Given the description of an element on the screen output the (x, y) to click on. 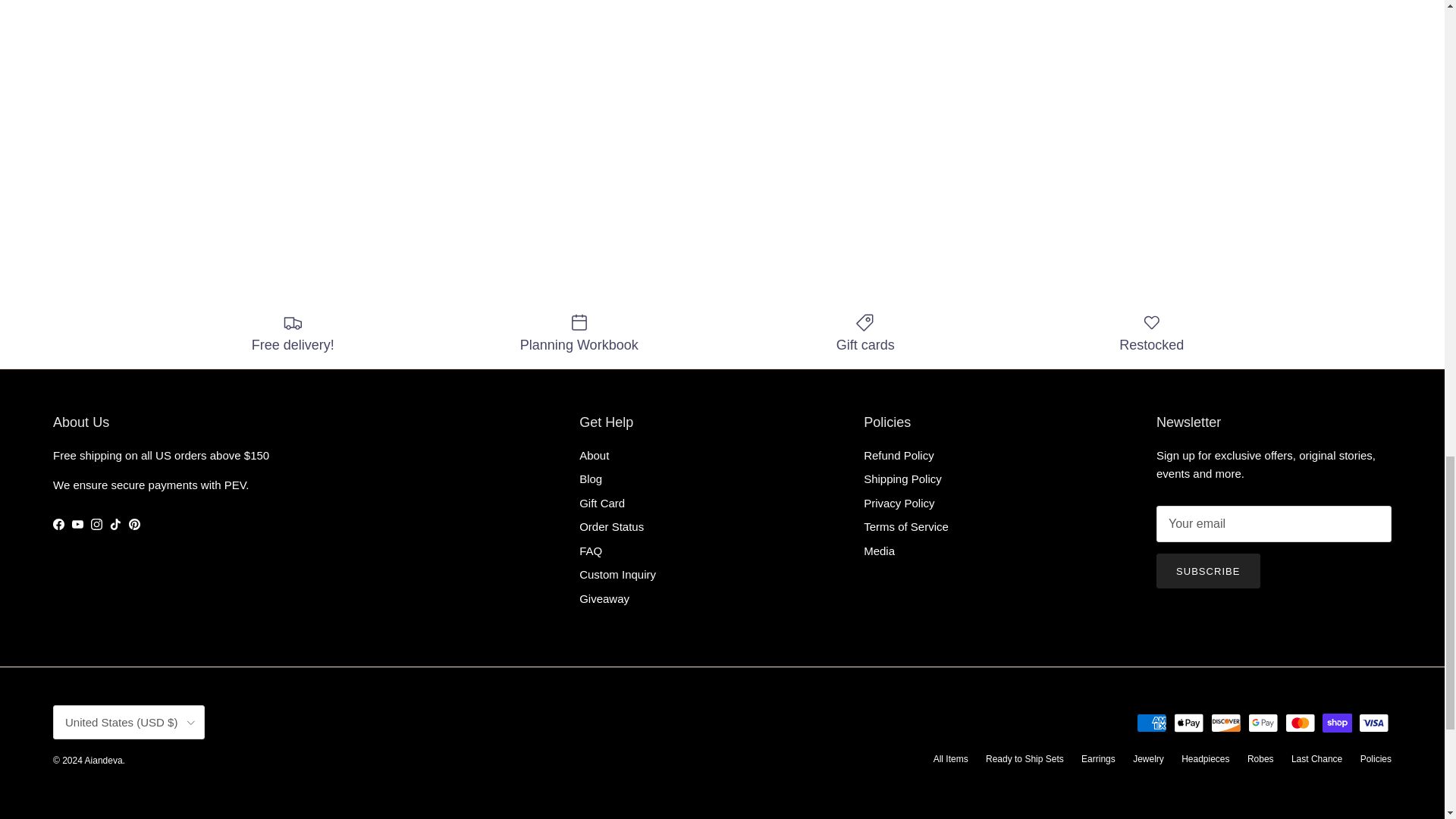
Aiandeva on TikTok (115, 523)
Aiandeva on YouTube (76, 523)
Aiandeva on Pinterest (134, 523)
Aiandeva on Facebook (58, 523)
Aiandeva on Instagram (95, 523)
